Given the description of an element on the screen output the (x, y) to click on. 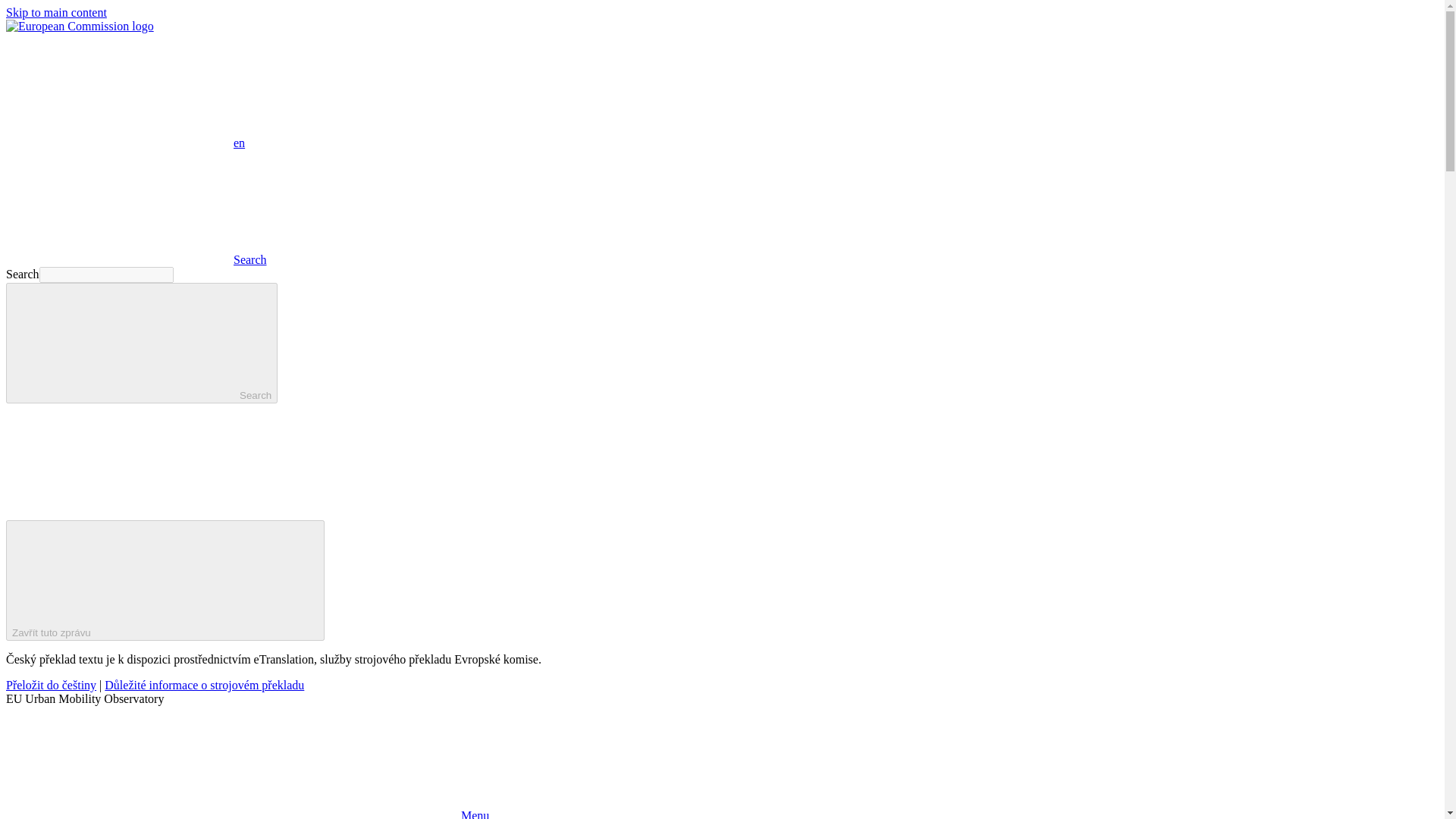
Search (135, 259)
Search (141, 342)
enen (124, 142)
European Commission (79, 25)
en (118, 90)
Skip to main content (55, 11)
Menu (247, 814)
